Given the description of an element on the screen output the (x, y) to click on. 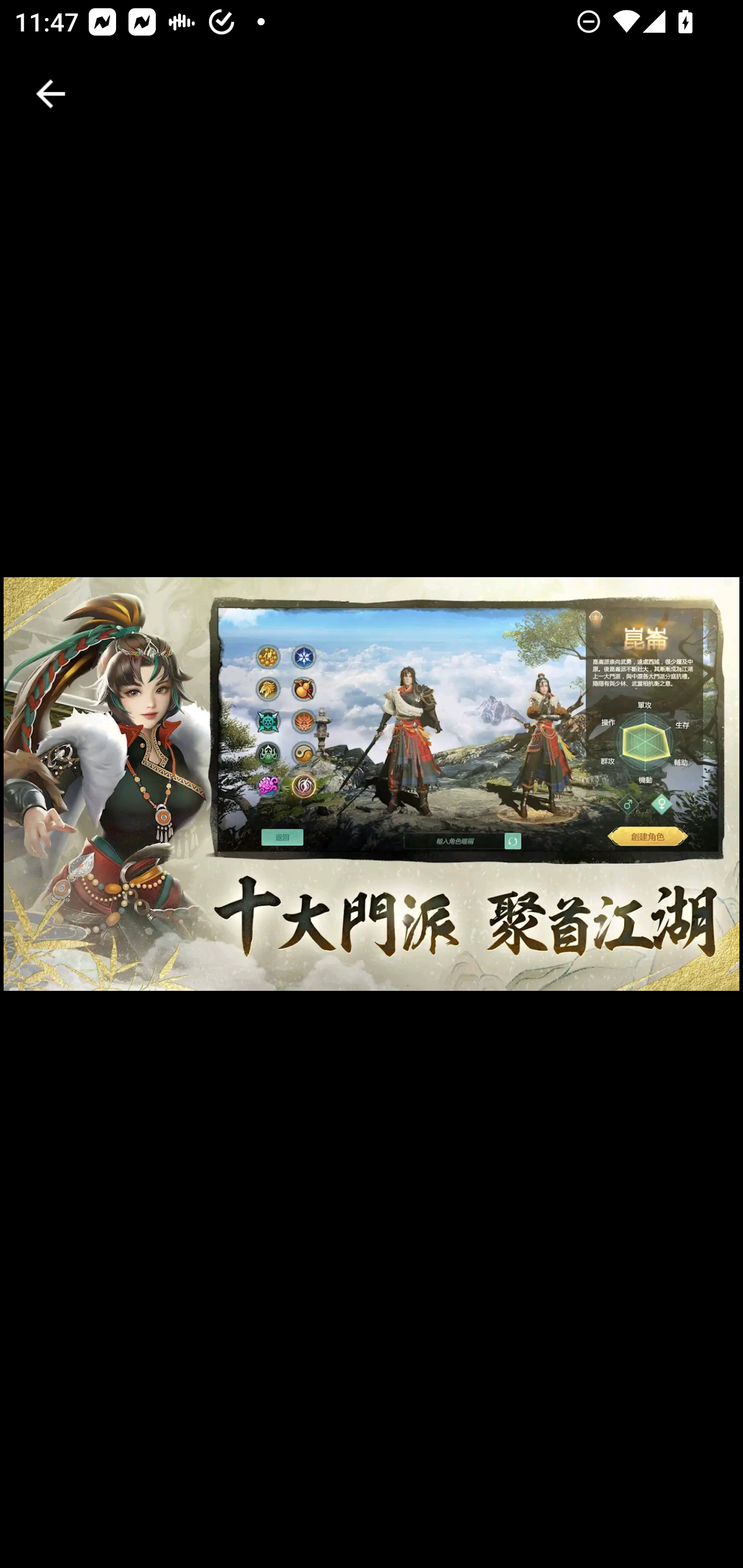
Back (50, 93)
